Given the description of an element on the screen output the (x, y) to click on. 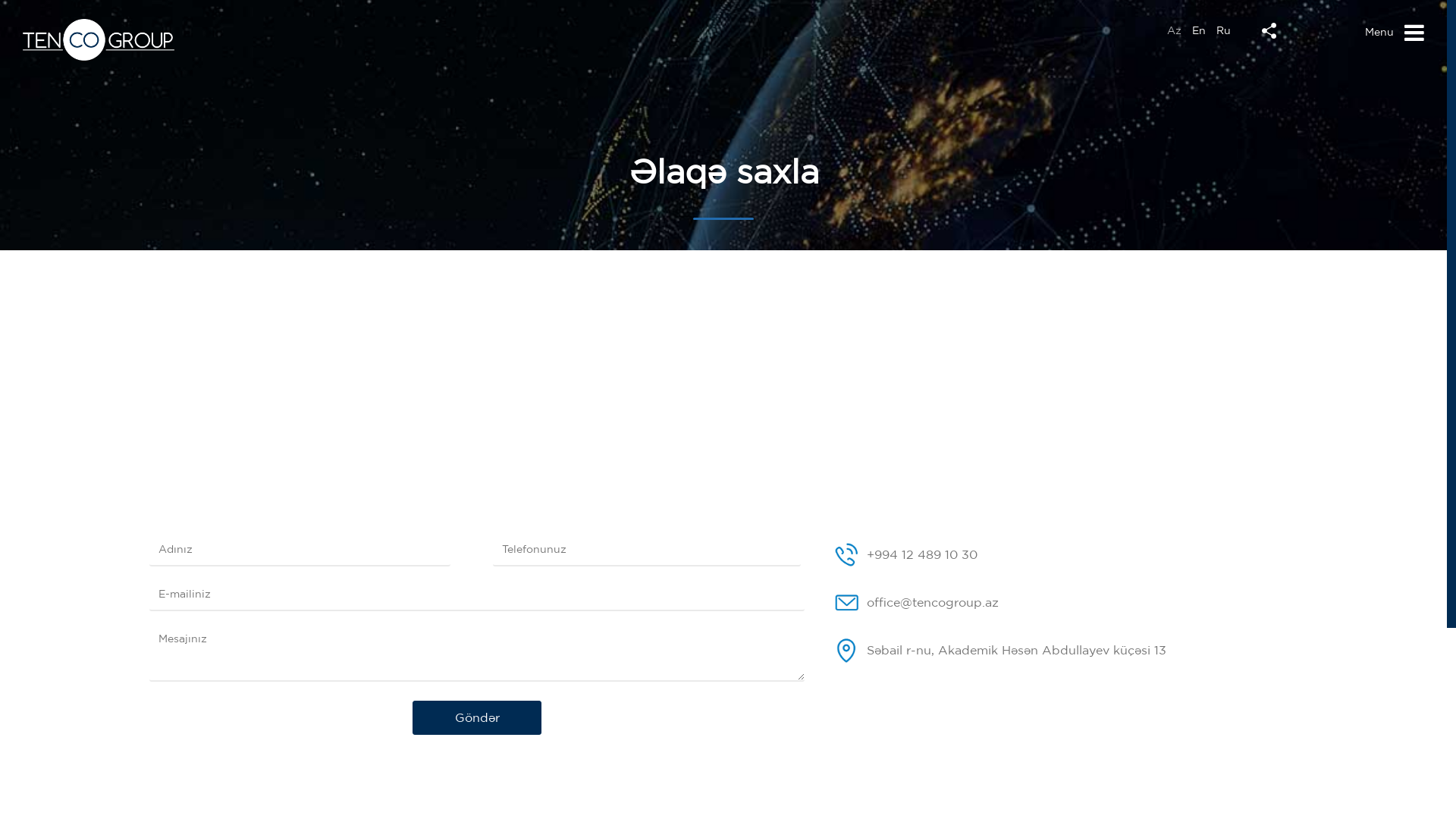
+994 12 489 10 30 Element type: text (921, 554)
Ru Element type: text (1223, 30)
office@tencogroup.az Element type: text (932, 601)
En Element type: text (1198, 30)
Az Element type: text (1174, 30)
